Given the description of an element on the screen output the (x, y) to click on. 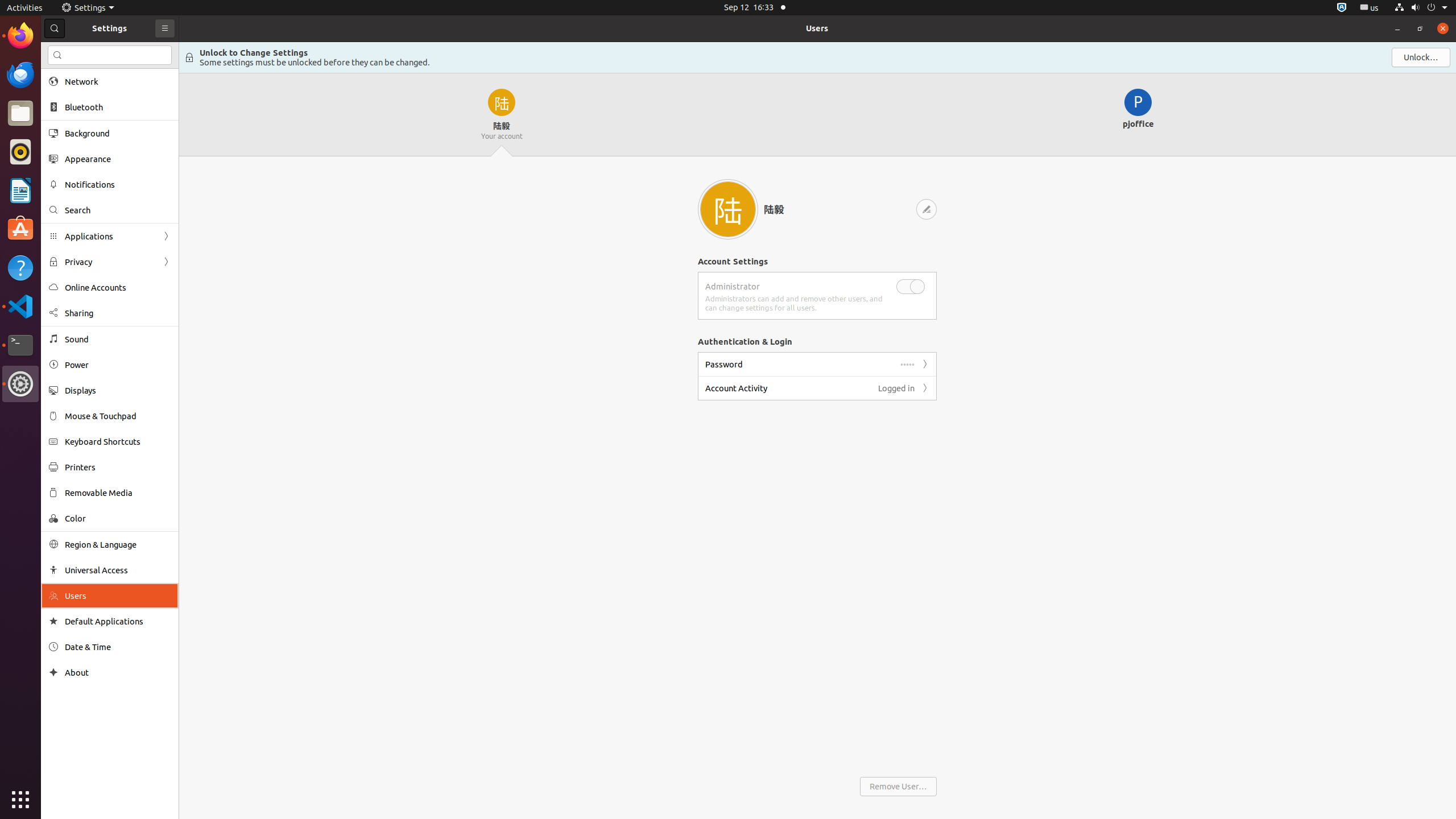
Settings Element type: push-button (20, 383)
Displays Element type: label (117, 390)
Online Accounts Element type: label (117, 287)
edit-find-symbolic Element type: icon (56, 54)
Account Activity Element type: label (736, 388)
